Given the description of an element on the screen output the (x, y) to click on. 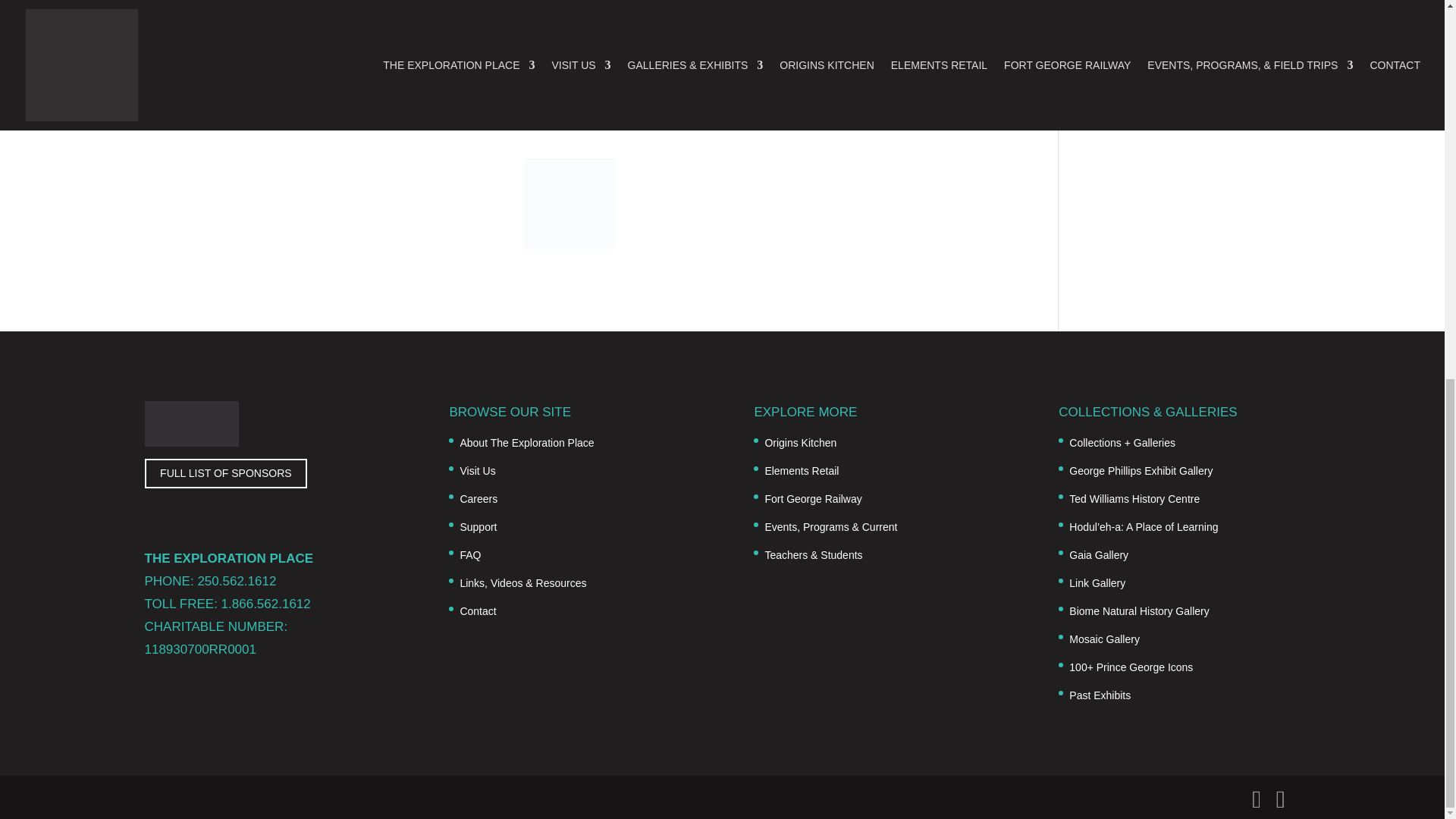
FULL LIST OF SPONSORS (225, 473)
Visit Us (477, 470)
BOOK THIS KIT (522, 96)
Careers (478, 499)
About The Exploration Place (527, 442)
